Given the description of an element on the screen output the (x, y) to click on. 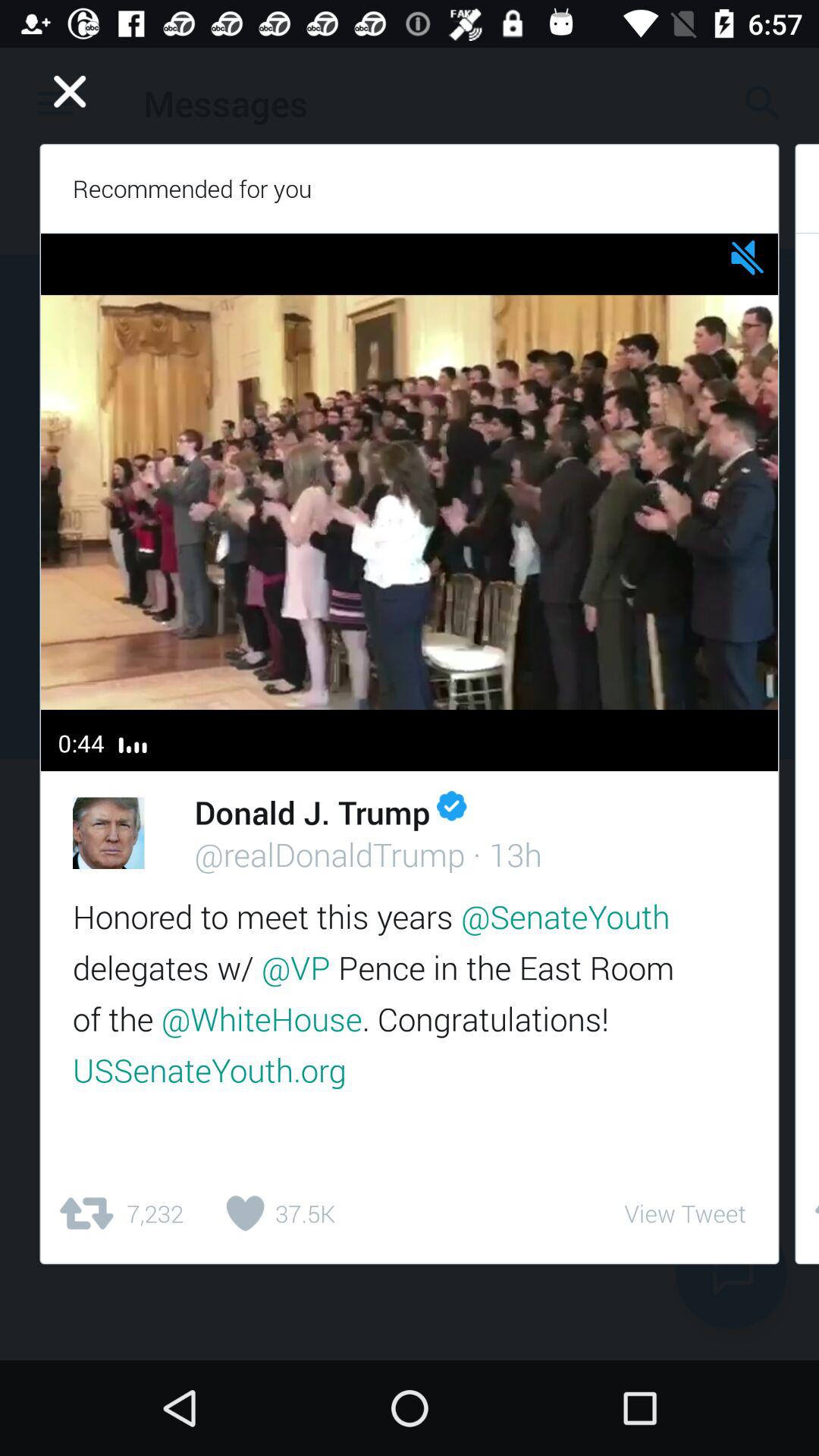
swipe to view tweet (685, 1213)
